Given the description of an element on the screen output the (x, y) to click on. 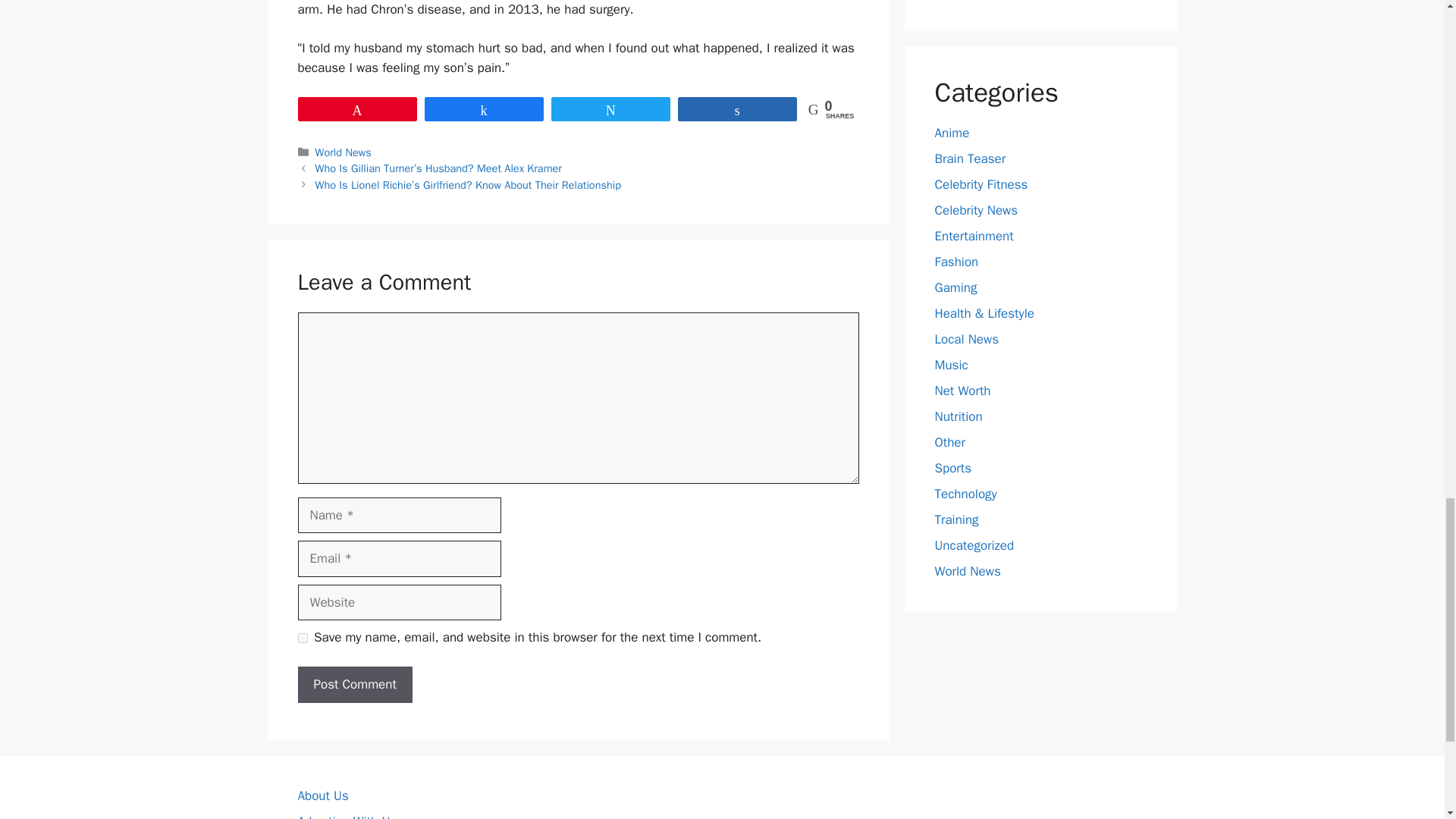
Post Comment (354, 684)
yes (302, 637)
Post Comment (354, 684)
World News (343, 151)
